Given the description of an element on the screen output the (x, y) to click on. 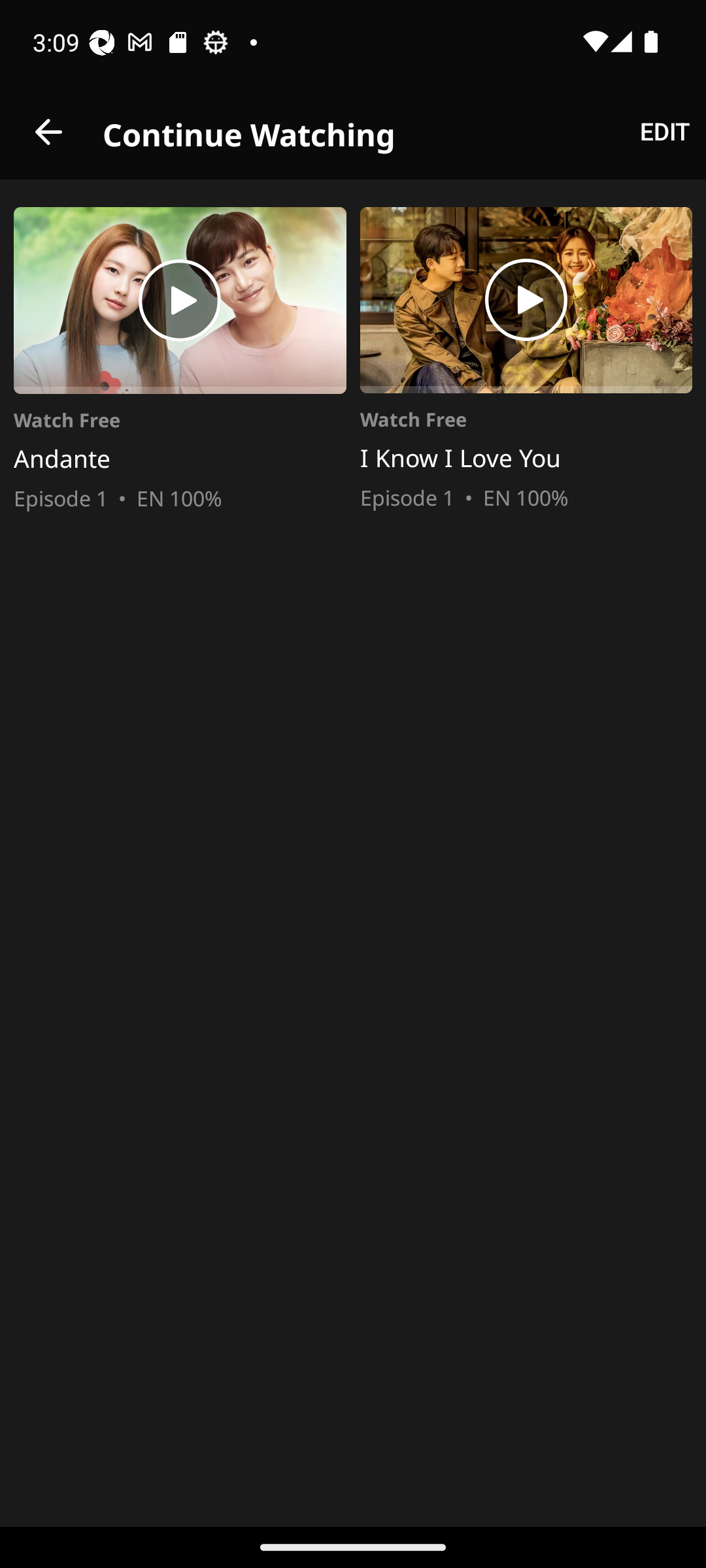
close_button (48, 131)
EDIT (664, 131)
